Given the description of an element on the screen output the (x, y) to click on. 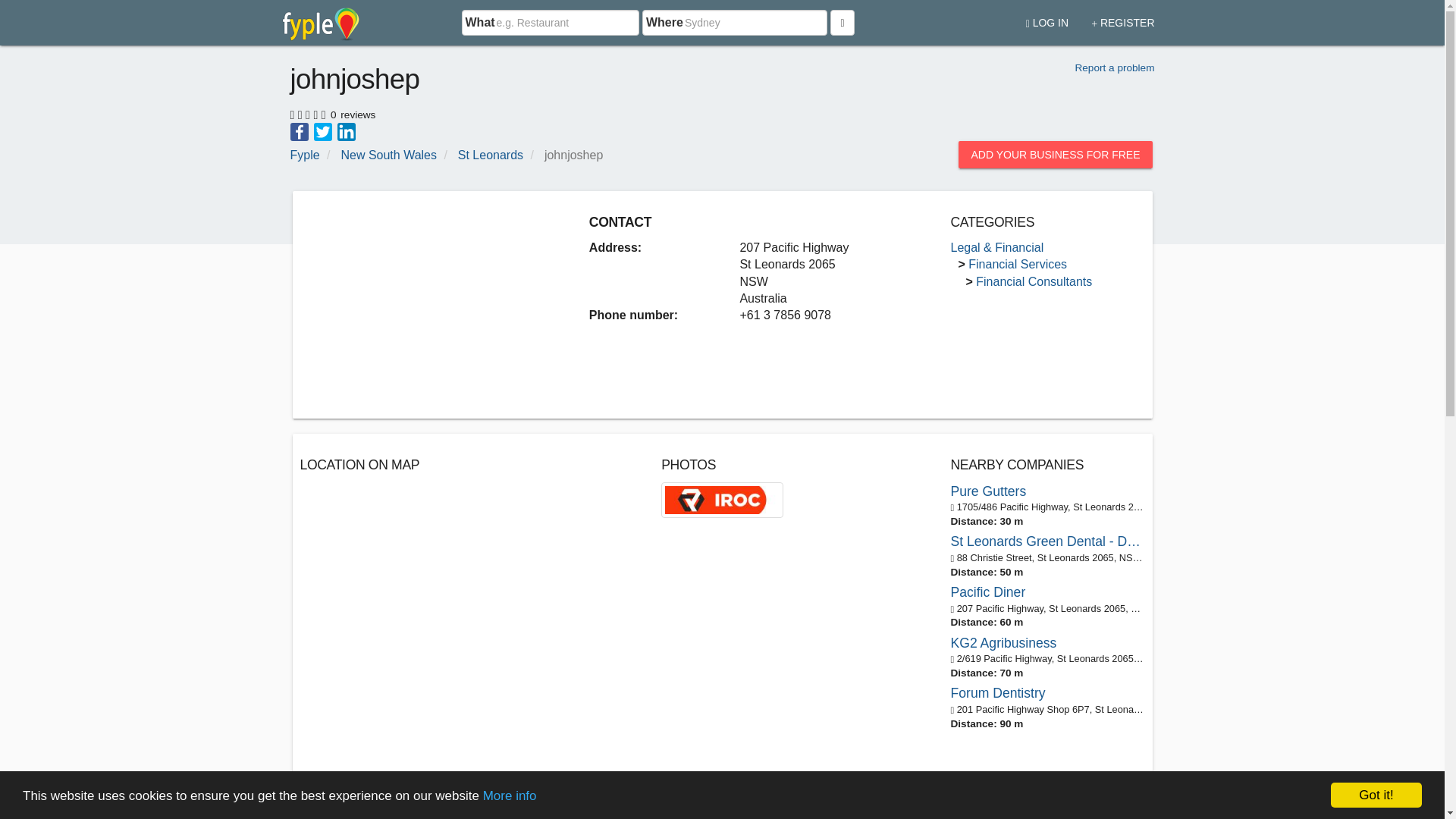
Share on LinkedIn (346, 130)
Fyple (303, 154)
St Leonards Green Dental - Dentist St Leonards (1047, 541)
Report a problem (1114, 67)
Home page (320, 22)
Search (842, 23)
Location on map (469, 603)
Pure Gutters (1047, 491)
Financial Consultants (1033, 281)
LOG IN (1047, 17)
Share on Facebook (298, 130)
Pacific Diner (1047, 592)
Tweet (322, 130)
Advertisement (426, 305)
ADD YOUR BUSINESS FOR FREE (1054, 154)
